Given the description of an element on the screen output the (x, y) to click on. 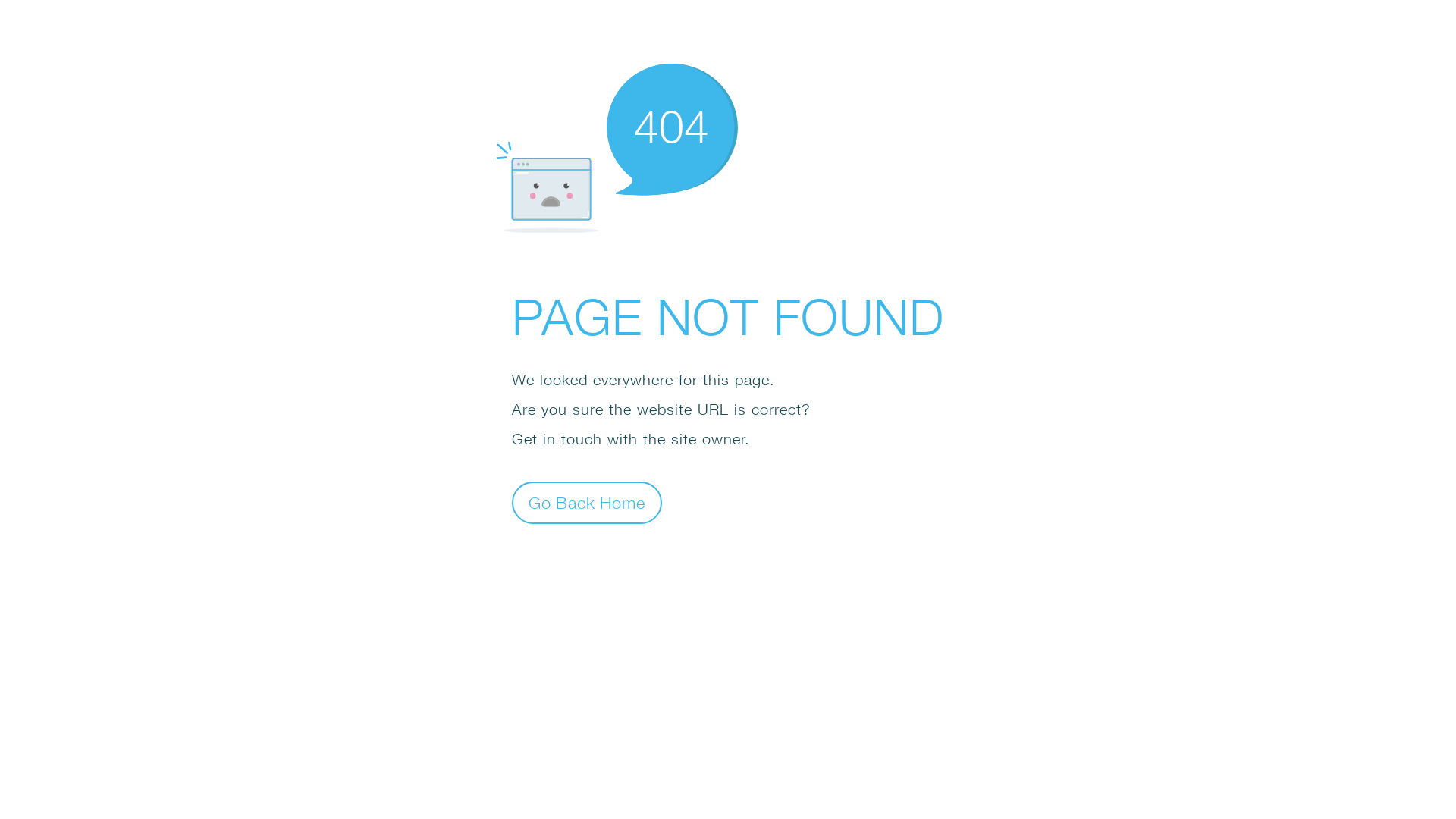
Go Back Home Element type: text (586, 502)
